Given the description of an element on the screen output the (x, y) to click on. 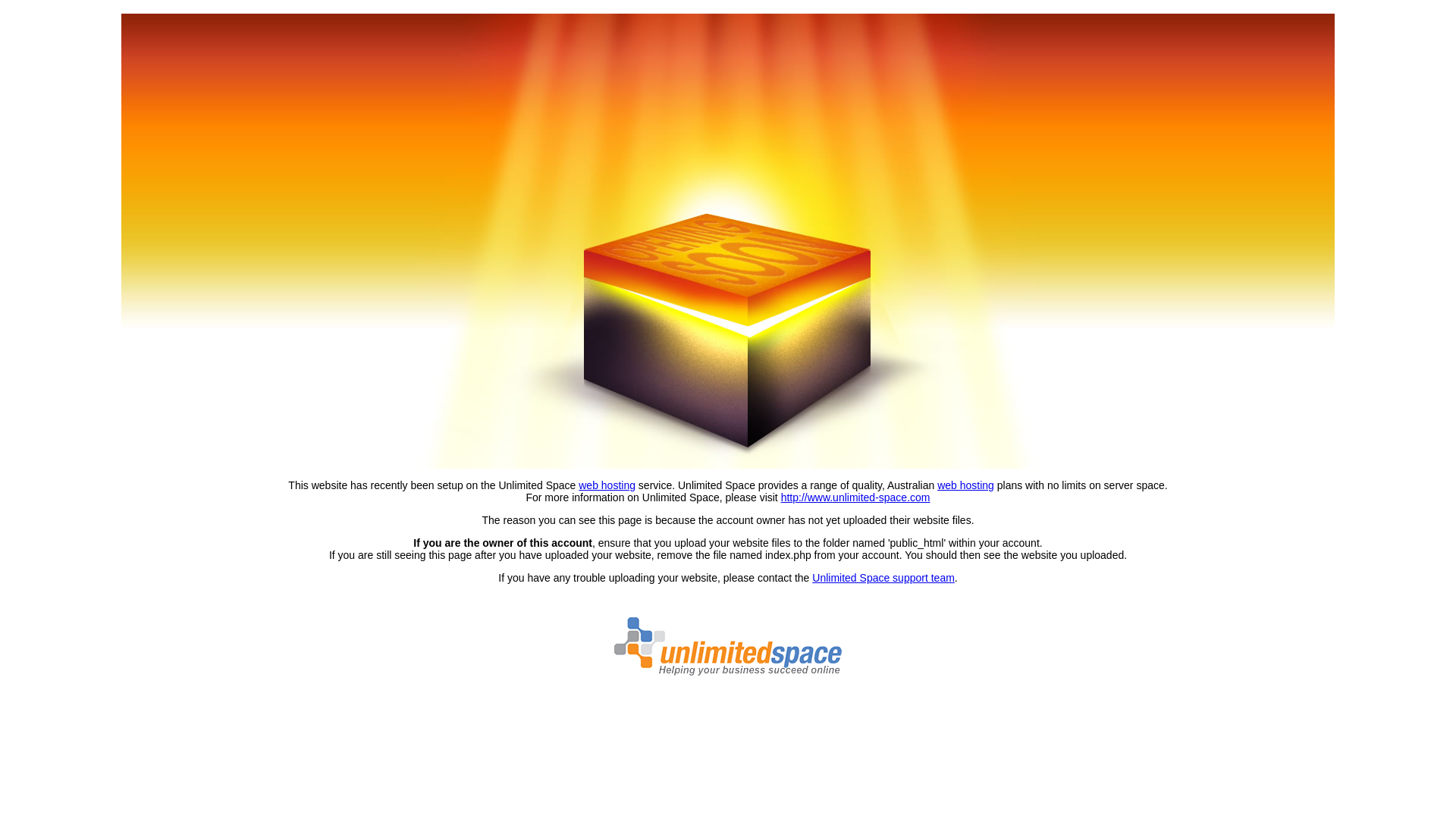
Unlimited Space support team Element type: text (883, 577)
web hosting Element type: text (606, 485)
http://www.unlimited-space.com Element type: text (855, 497)
web hosting Element type: text (965, 485)
